Given the description of an element on the screen output the (x, y) to click on. 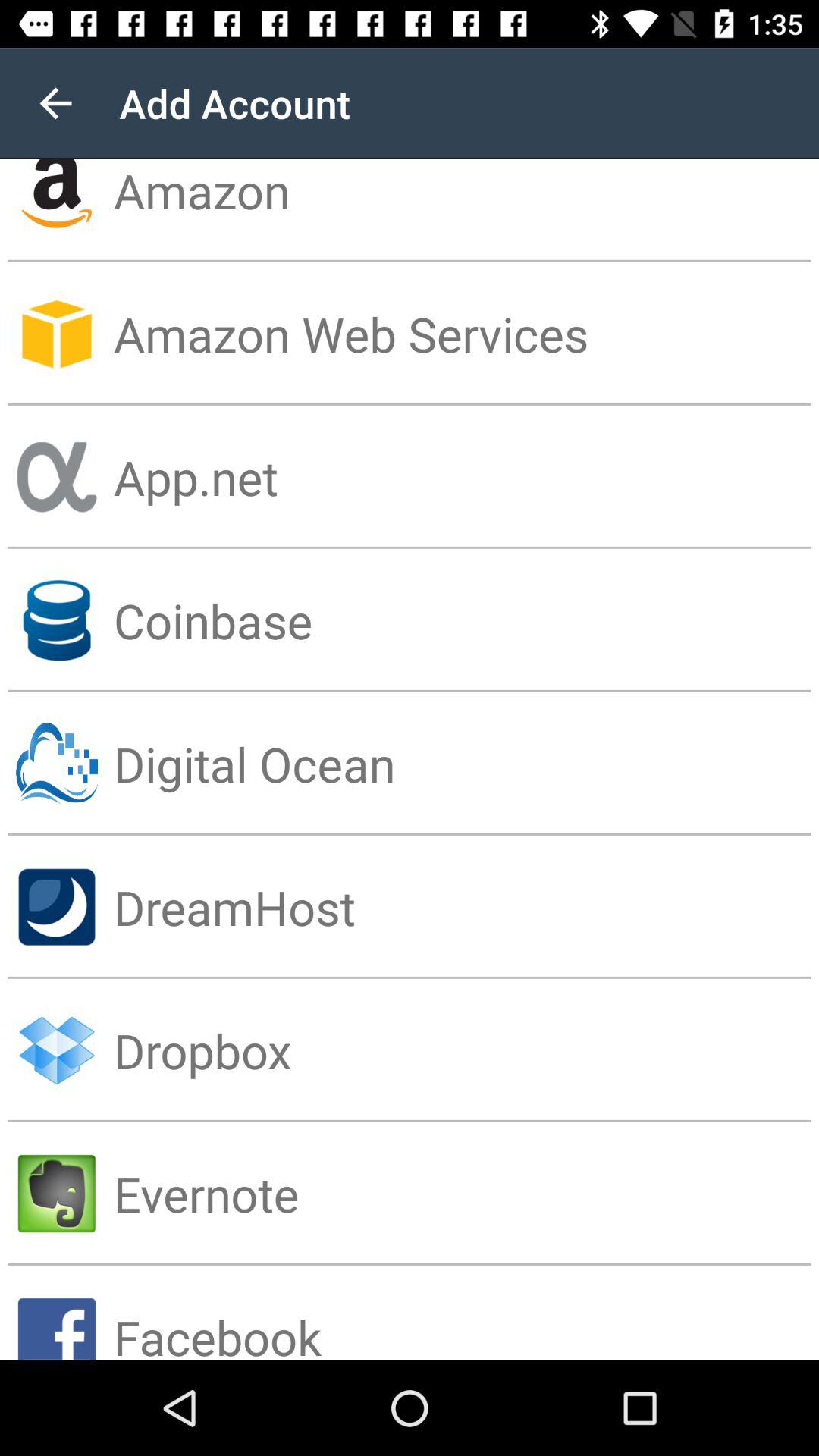
choose the icon above the coinbase item (466, 476)
